Given the description of an element on the screen output the (x, y) to click on. 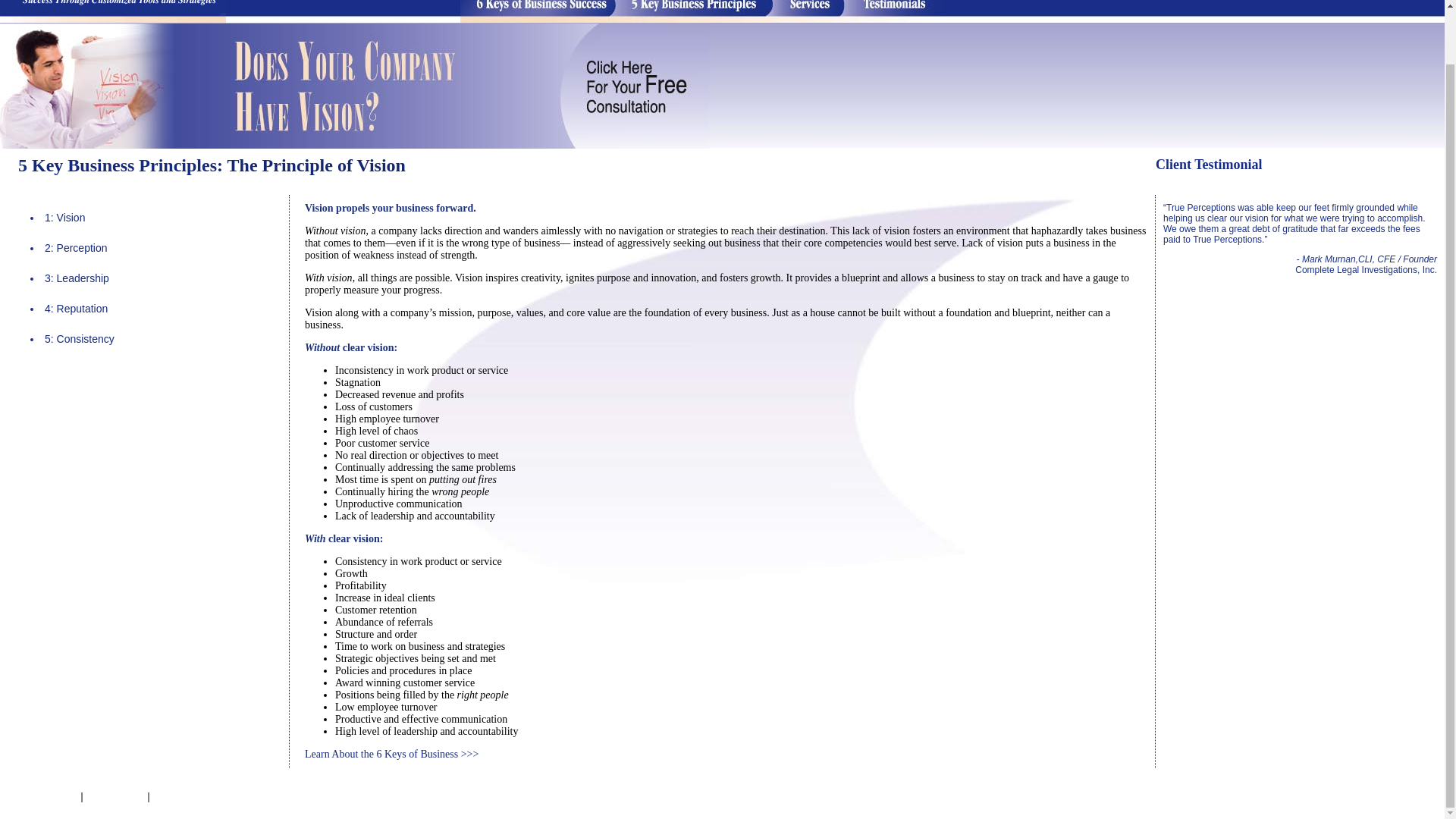
Terms of Use (114, 796)
Site Map (57, 796)
4: Reputation (76, 308)
5 Key Business Principles (116, 165)
1: Vision (64, 217)
3: Leadership (77, 277)
5: Consistency (80, 338)
Privacy Policy (184, 796)
2: Perception (76, 247)
